Given the description of an element on the screen output the (x, y) to click on. 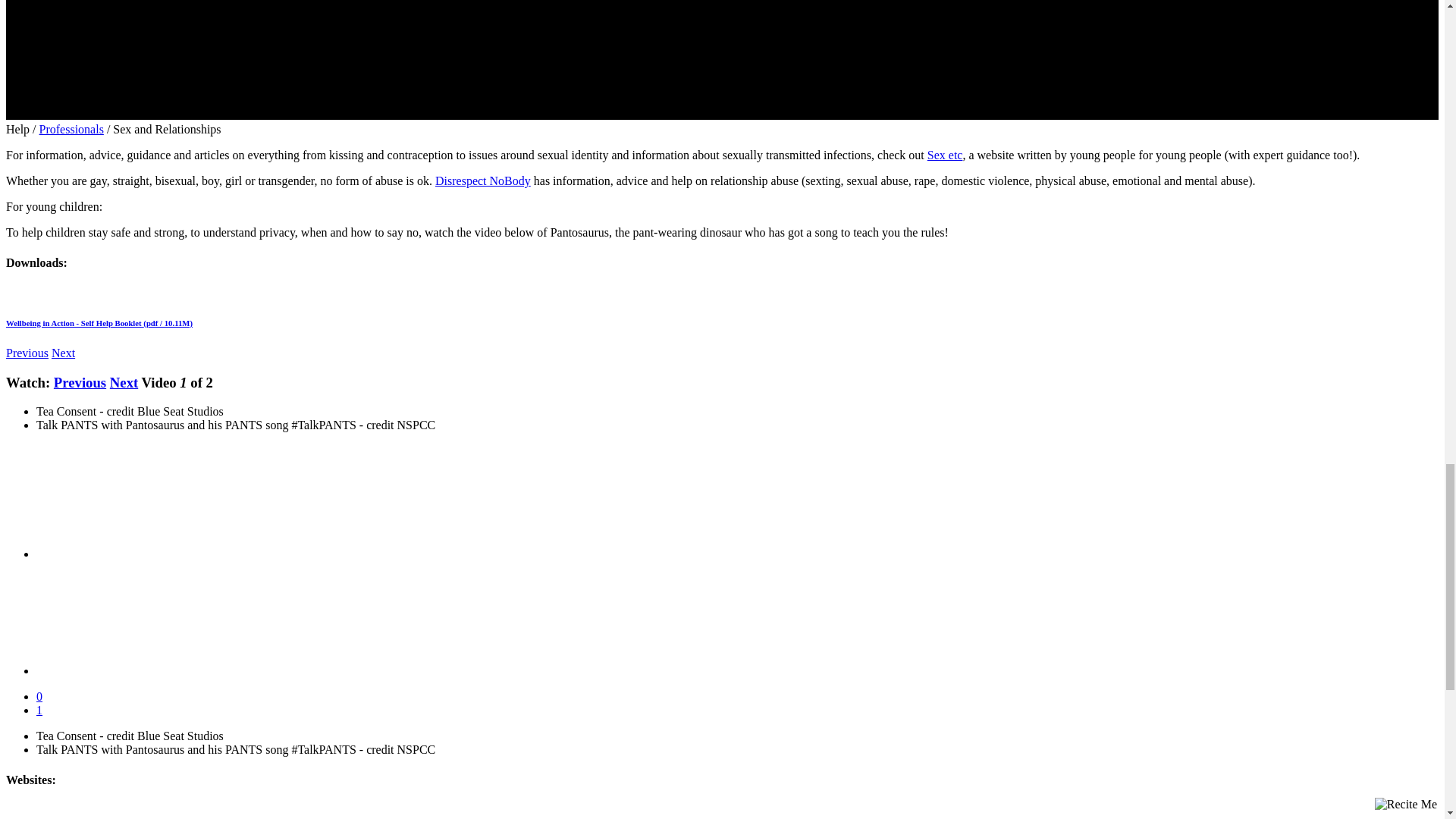
Professionals (71, 128)
Disrespect NoBody (483, 180)
Next (124, 382)
Previous (79, 382)
Previous (26, 352)
Sex etc (944, 154)
Next (62, 352)
